Given the description of an element on the screen output the (x, y) to click on. 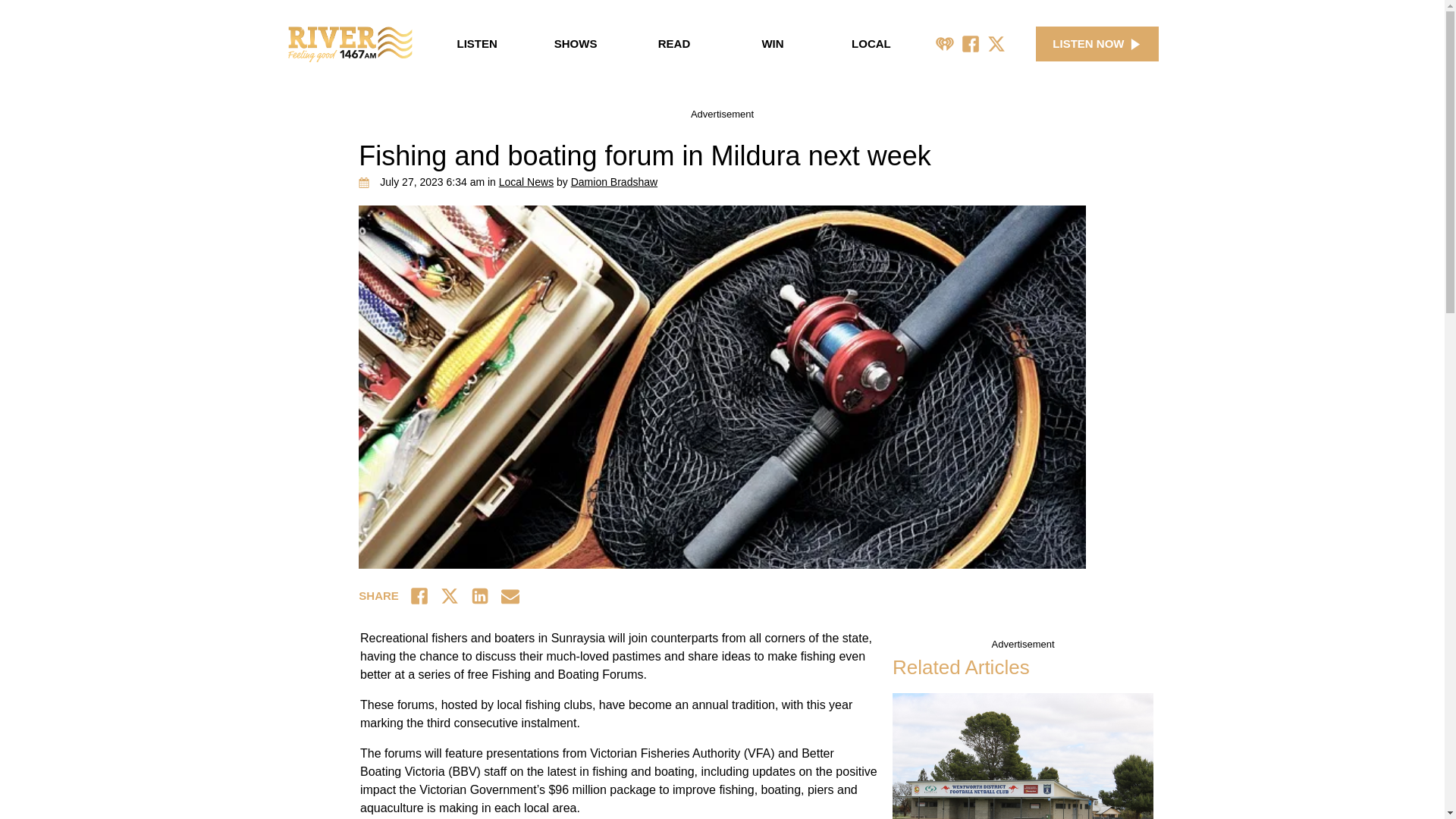
Facebook (969, 44)
LOCAL (871, 43)
iHeart (944, 44)
SHOWS (574, 43)
WIN (772, 43)
Posts by Damion Bradshaw (614, 182)
LISTEN NOW (1096, 44)
LISTEN (476, 43)
READ (673, 43)
